Given the description of an element on the screen output the (x, y) to click on. 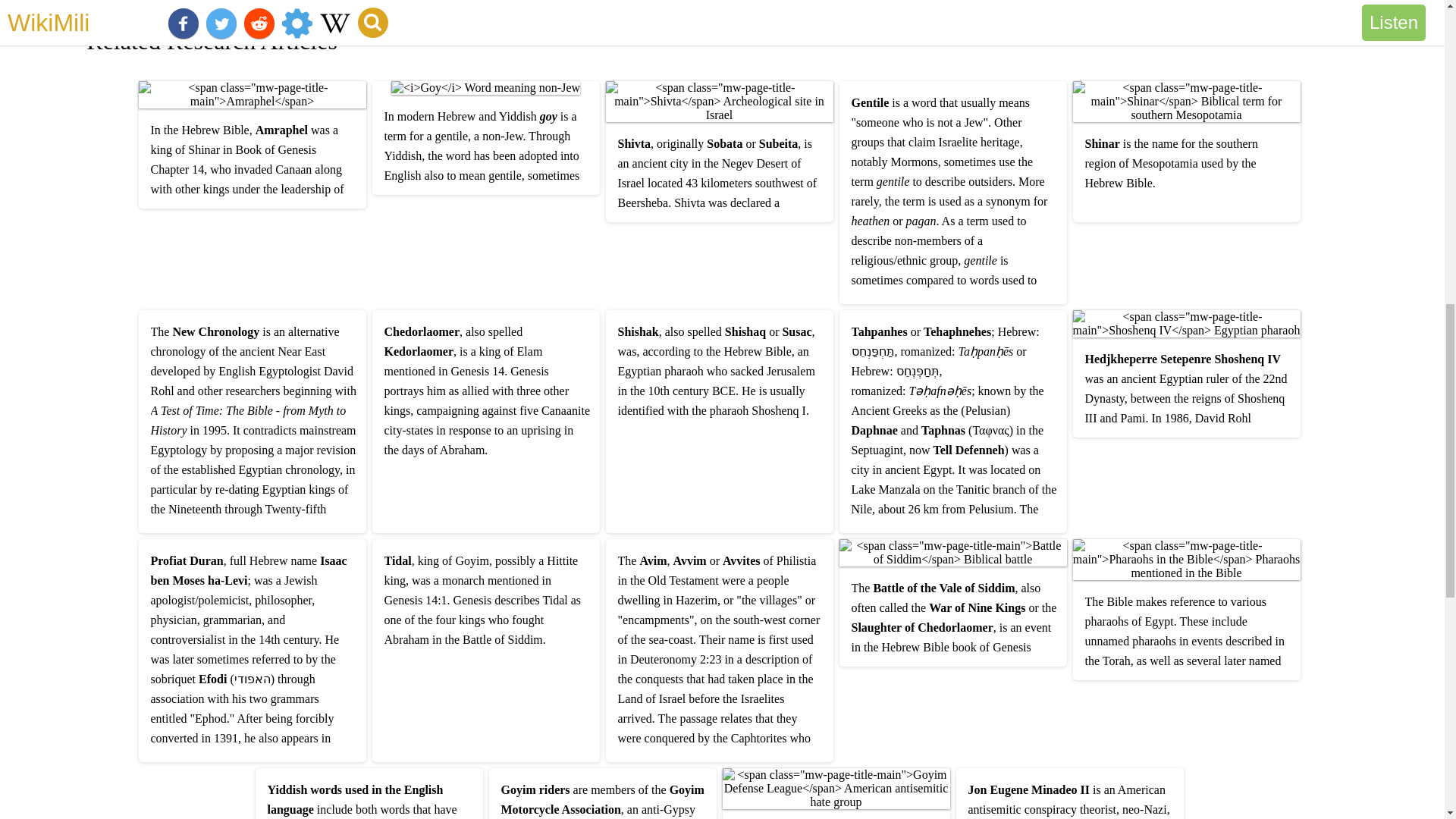
Tish-atal (143, 0)
Tish-atal (143, 0)
